Given the description of an element on the screen output the (x, y) to click on. 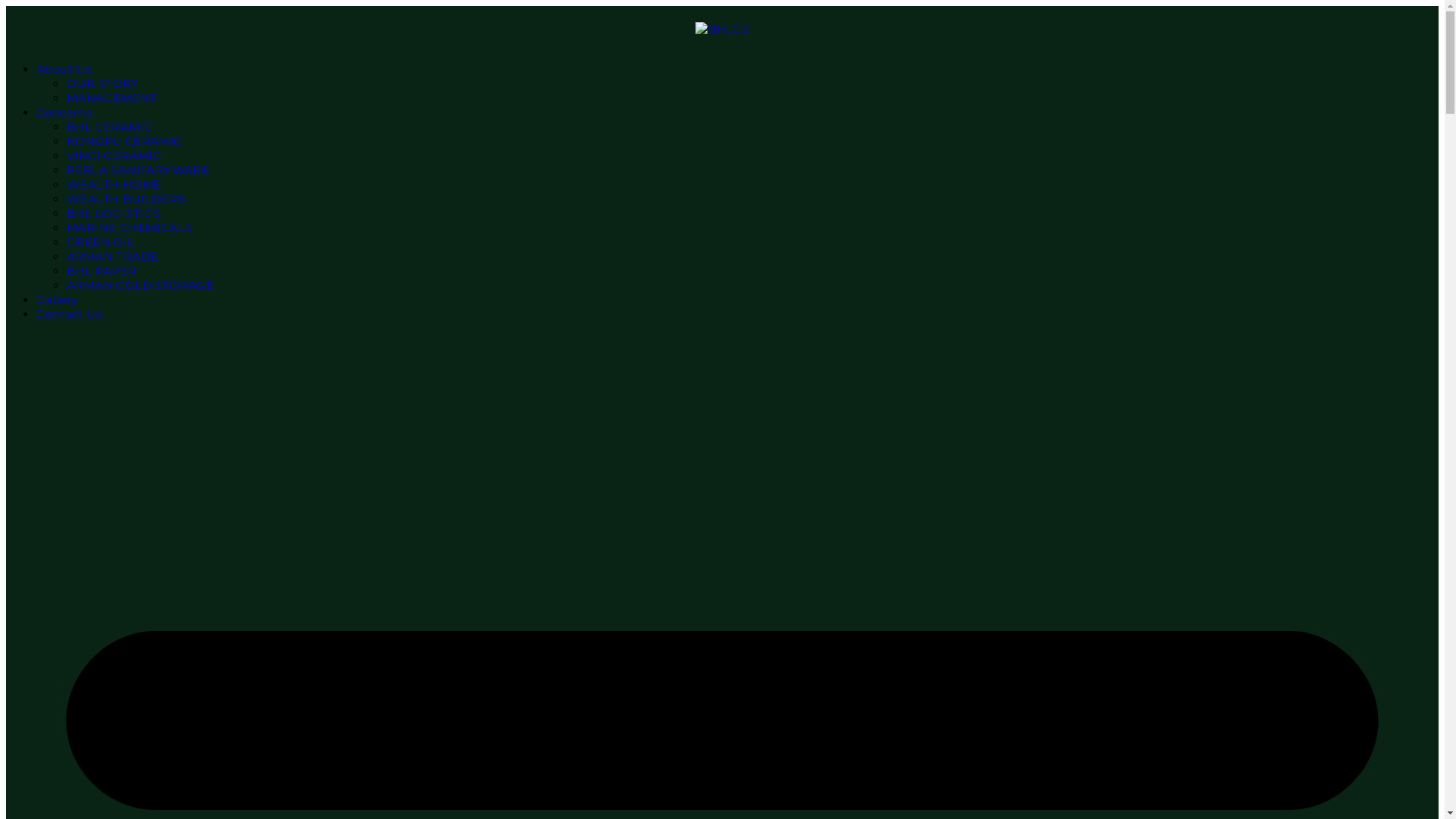
PERLA SANITARYWARE Element type: text (137, 170)
ARMAN COLD STORAGE Element type: text (139, 285)
OUR STORY Element type: text (102, 83)
ARMAN TRADE Element type: text (111, 256)
About Us Element type: text (63, 69)
KONGFU CERAMIC Element type: text (124, 141)
MANAGEMENT Element type: text (111, 98)
VINCI CERAMIC Element type: text (113, 155)
Concerns Element type: text (63, 112)
BHL CERAMIC Element type: text (109, 126)
MARINE CHEMICALS Element type: text (128, 227)
WEALTH BUILDERS Element type: text (125, 198)
WEALTH HOME Element type: text (113, 184)
BHL PAPER Element type: text (101, 270)
GREEN OIL Element type: text (100, 242)
Contact Us Element type: text (68, 314)
Gallery Element type: text (57, 299)
BHLG2 Element type: hover (722, 28)
BHL LOGISTICS Element type: text (113, 213)
